Given the description of an element on the screen output the (x, y) to click on. 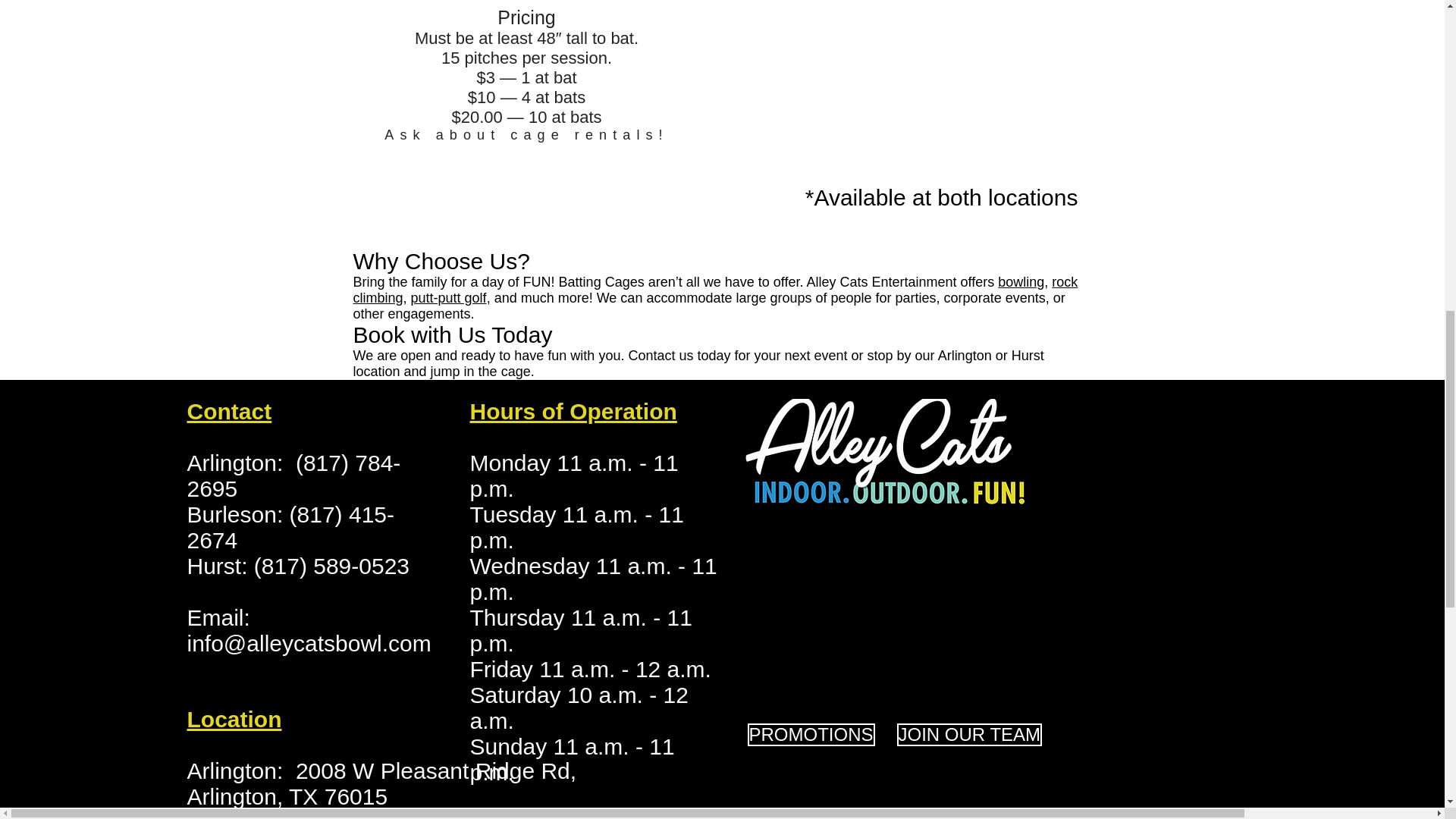
JOIN OUR TEAM (969, 734)
rock climbing (715, 289)
bowling (1020, 281)
putt-putt golf (448, 297)
PROMOTIONS (811, 734)
